Given the description of an element on the screen output the (x, y) to click on. 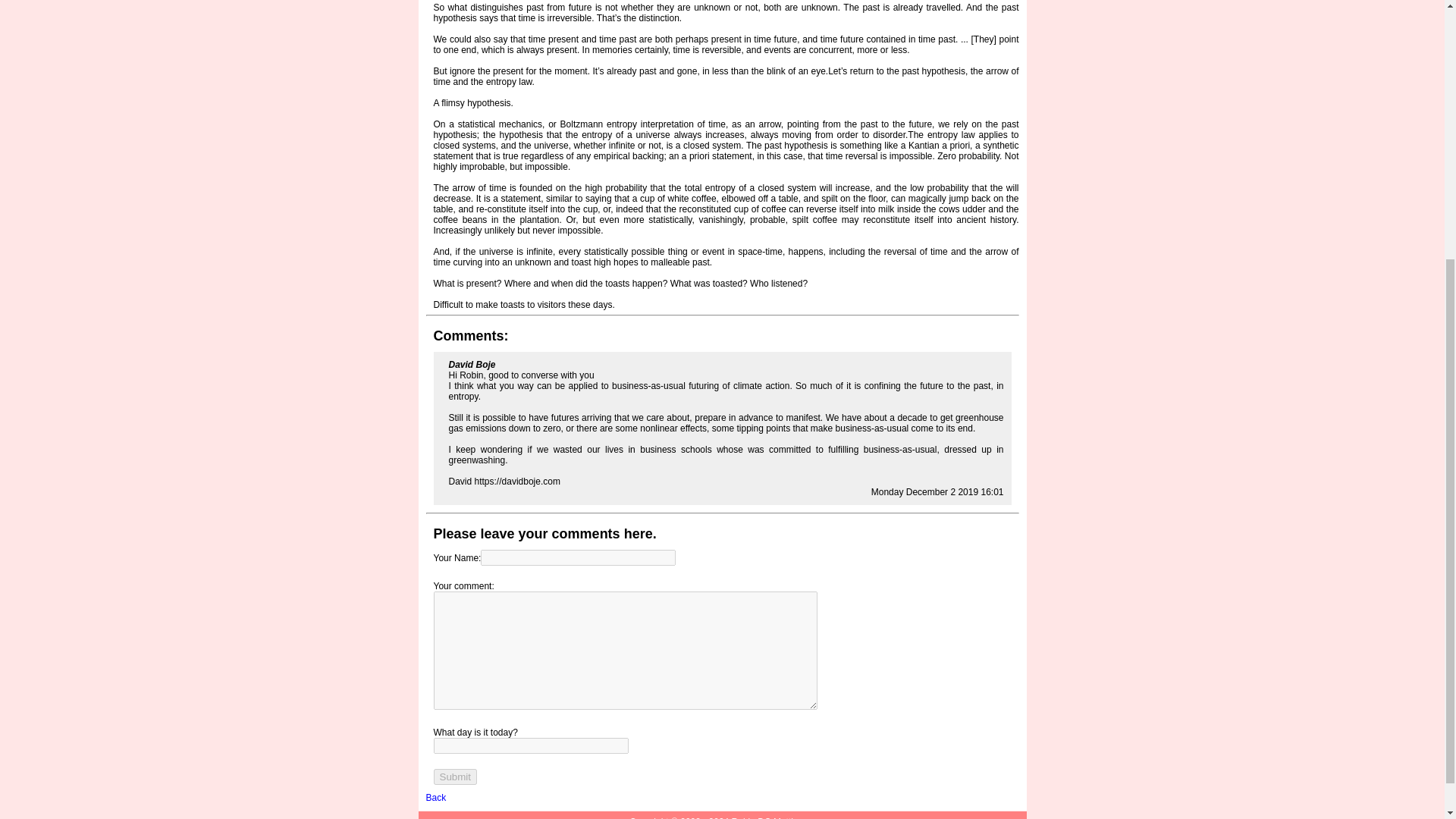
Submit (455, 776)
Back (436, 797)
Submit (455, 776)
